Given the description of an element on the screen output the (x, y) to click on. 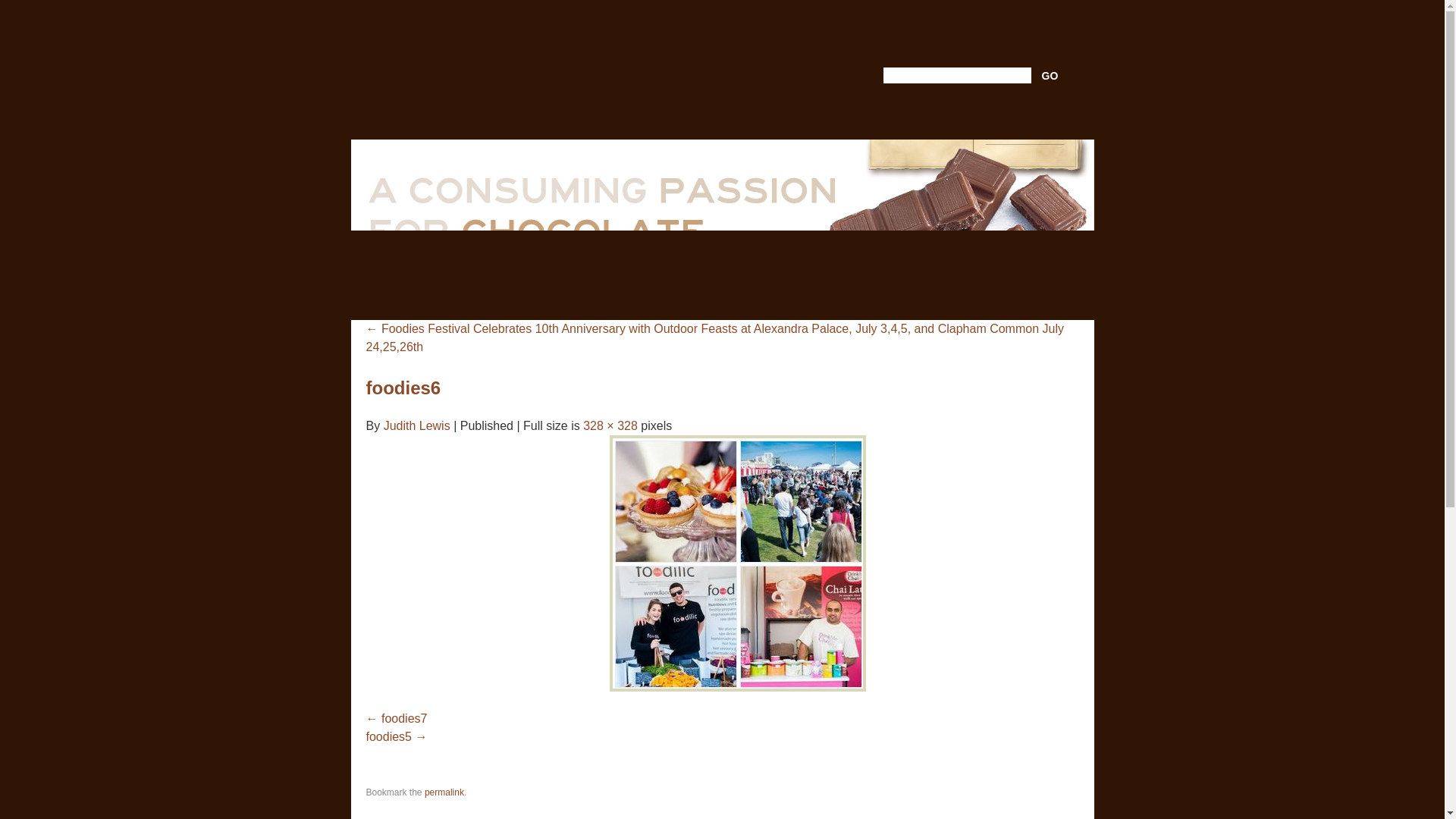
permalink (444, 792)
GO (1049, 76)
Mostly About Chocolate Blog (525, 67)
foodies5 (395, 736)
Link to full-size image (610, 425)
Permalink to foodies6 (444, 792)
Judith Lewis (416, 425)
Share (1038, 115)
View all posts by Judith Lewis (416, 425)
RSS (909, 115)
Twitter (960, 115)
Mostly About Chocolate Blog (525, 67)
FaceBook (1000, 115)
